Given the description of an element on the screen output the (x, y) to click on. 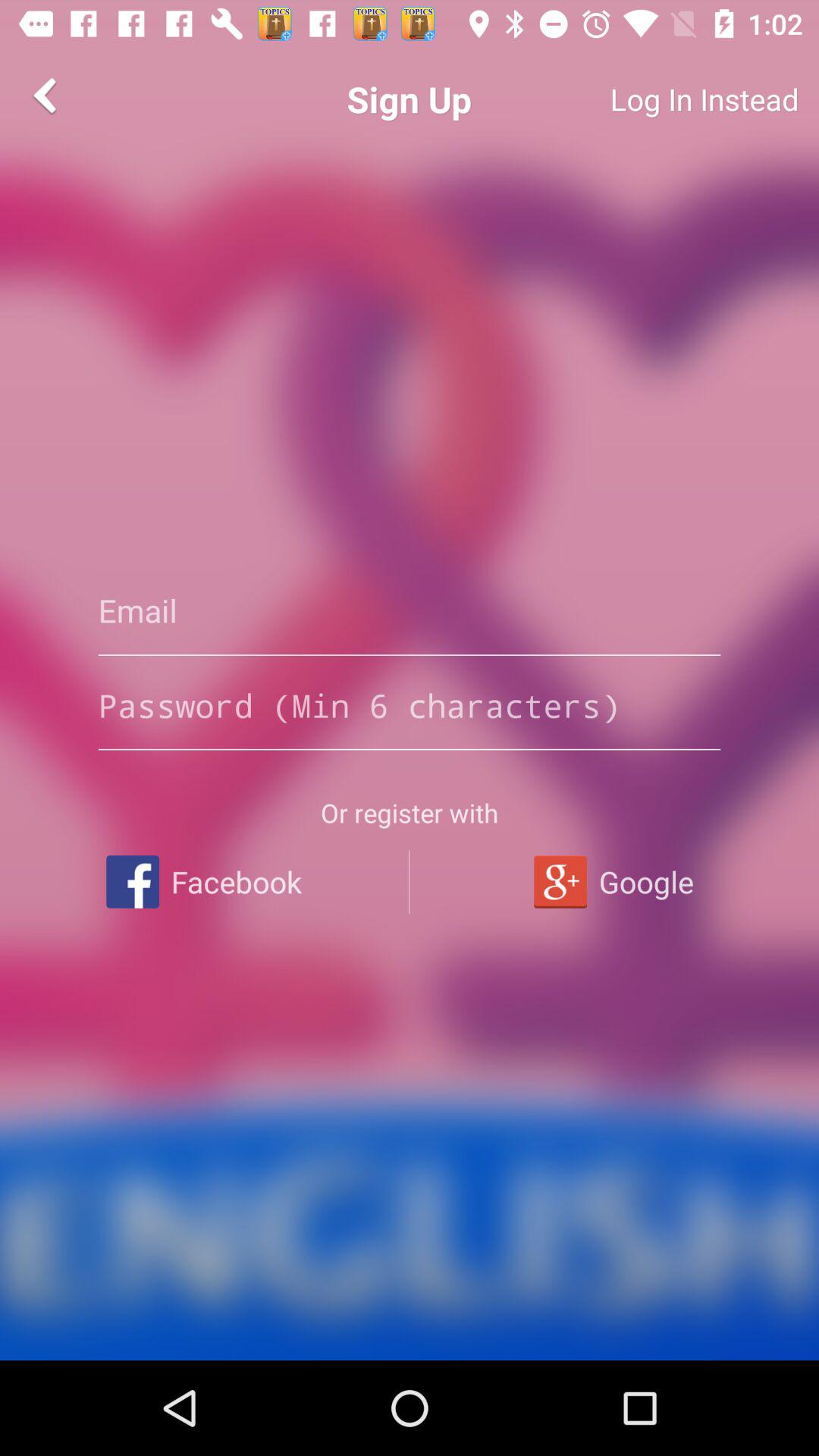
turn off item at the top left corner (47, 95)
